Given the description of an element on the screen output the (x, y) to click on. 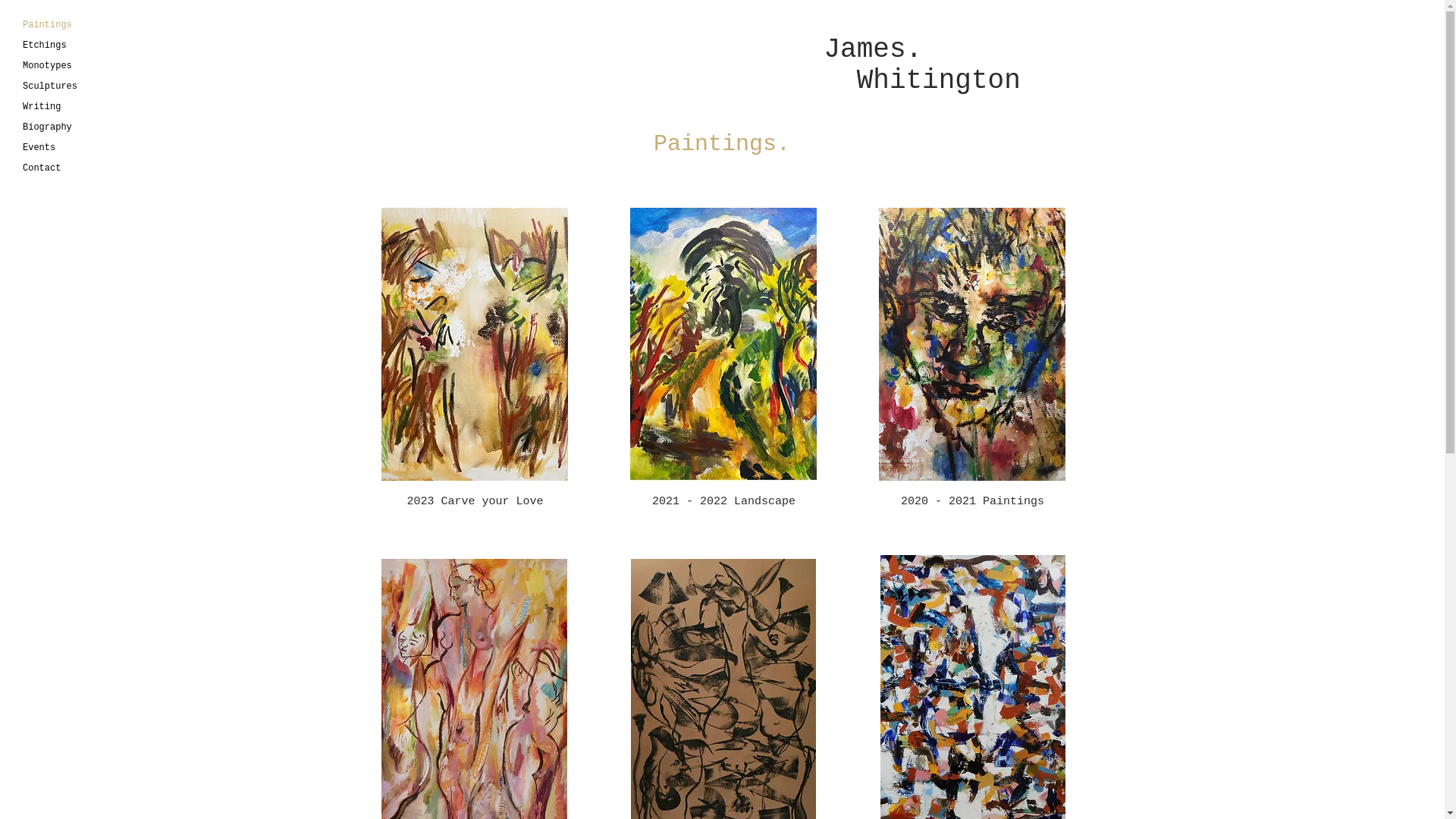
2021 - 2022 Landscape Element type: text (723, 501)
  Whitington Element type: text (921, 80)
2020 - 2021 Paintings Element type: text (972, 501)
Writing Element type: text (67, 107)
Events Element type: text (67, 148)
Contact Element type: text (67, 168)
Etchings Element type: text (67, 45)
Monotypes Element type: text (67, 66)
2023 Carve your Love Element type: text (474, 501)
Biography Element type: text (67, 127)
Sculptures Element type: text (67, 86)
Paintings Element type: text (67, 25)
James. Element type: text (872, 49)
